Given the description of an element on the screen output the (x, y) to click on. 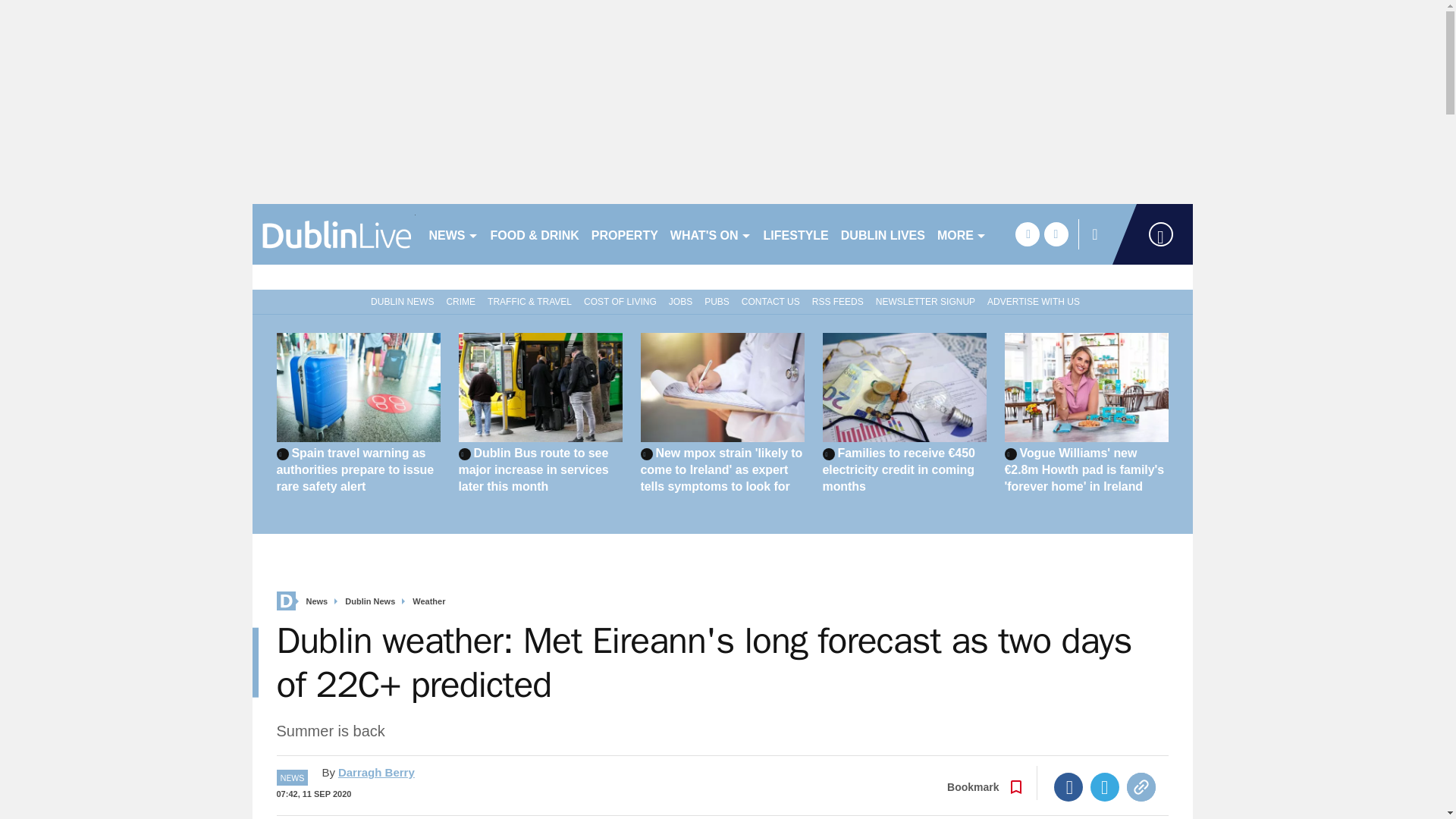
Facebook (1068, 787)
twitter (1055, 233)
DUBLIN LIVES (882, 233)
LIFESTYLE (795, 233)
NEWS (453, 233)
dublinlive (332, 233)
facebook (1026, 233)
MORE (961, 233)
WHAT'S ON (710, 233)
Twitter (1104, 787)
